Given the description of an element on the screen output the (x, y) to click on. 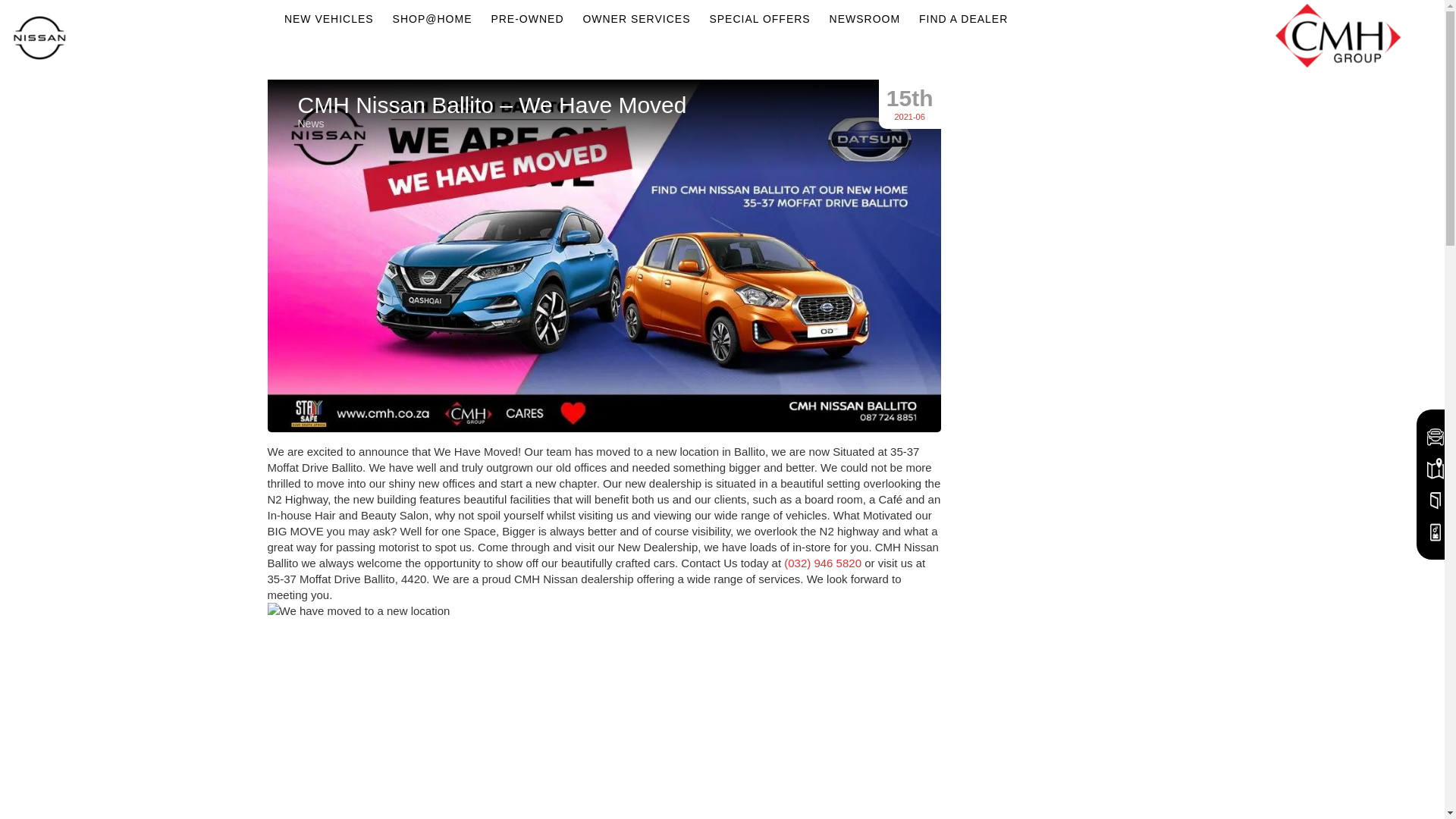
OWNER SERVICES (636, 19)
PRE-OWNED (526, 19)
SPECIAL OFFERS (758, 19)
NEW VEHICLES (328, 19)
CMH NISSAN (40, 39)
FIND A DEALER (962, 19)
NEWSROOM (865, 19)
